Given the description of an element on the screen output the (x, y) to click on. 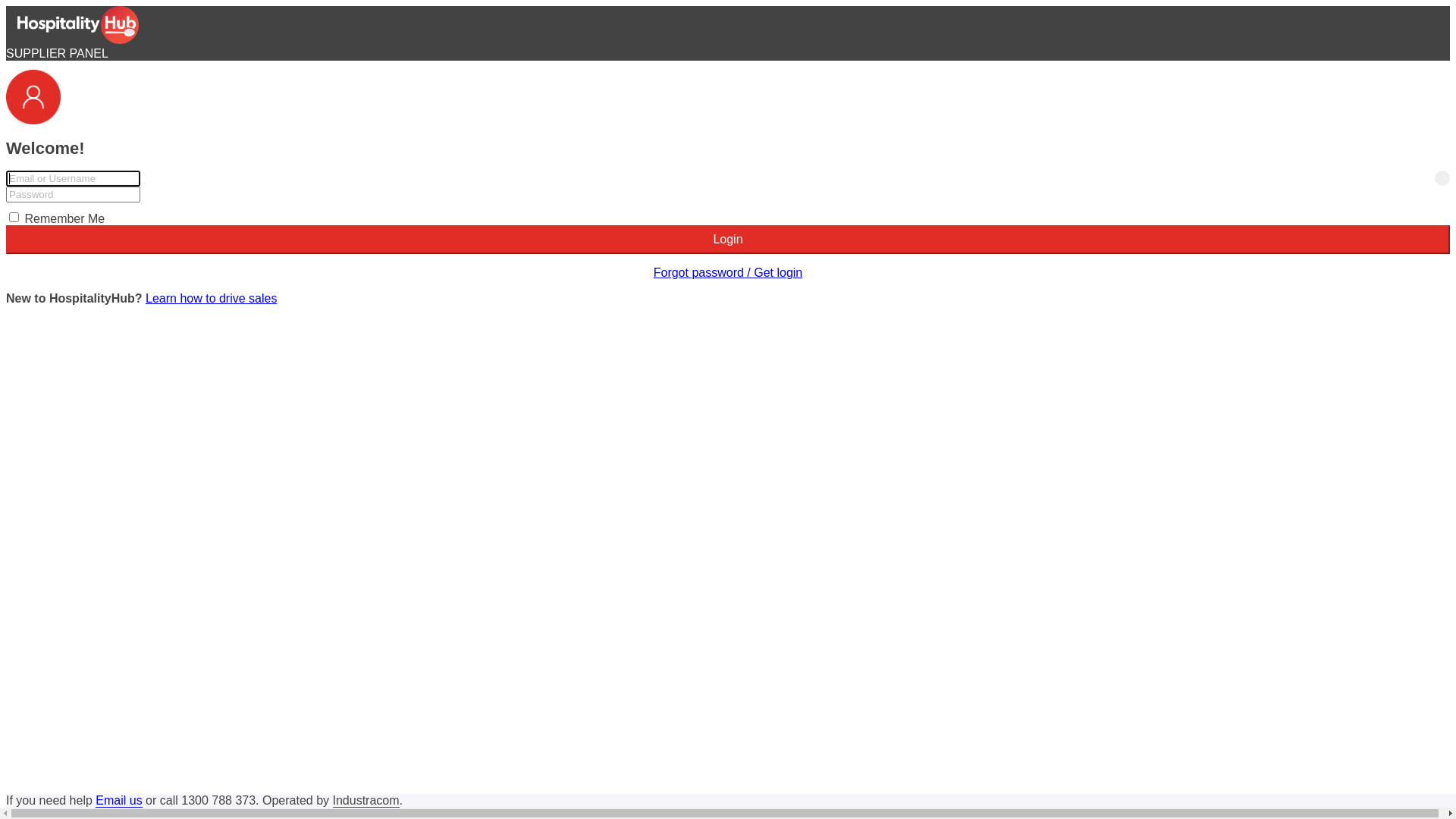
Learn how to drive sales Element type: text (210, 297)
Forgot password / Get login Element type: text (728, 272)
Email us Element type: text (118, 800)
Login Element type: text (727, 239)
Industracom Element type: text (365, 800)
